Given the description of an element on the screen output the (x, y) to click on. 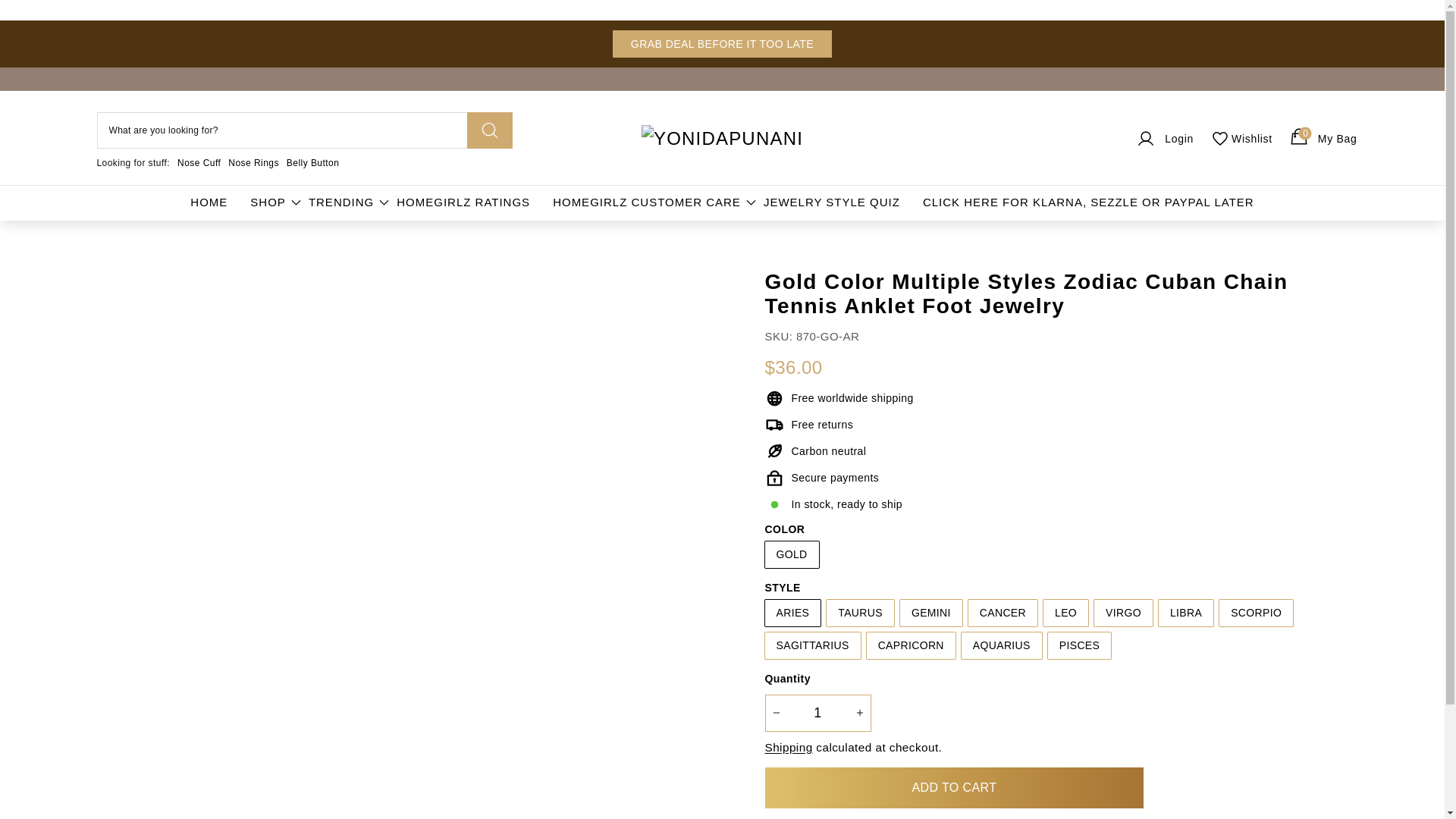
Nose Rings (253, 163)
Wishlist (1240, 138)
Login (1163, 138)
1 (817, 713)
Nose Cuff (199, 163)
Belly Button (312, 163)
